Given the description of an element on the screen output the (x, y) to click on. 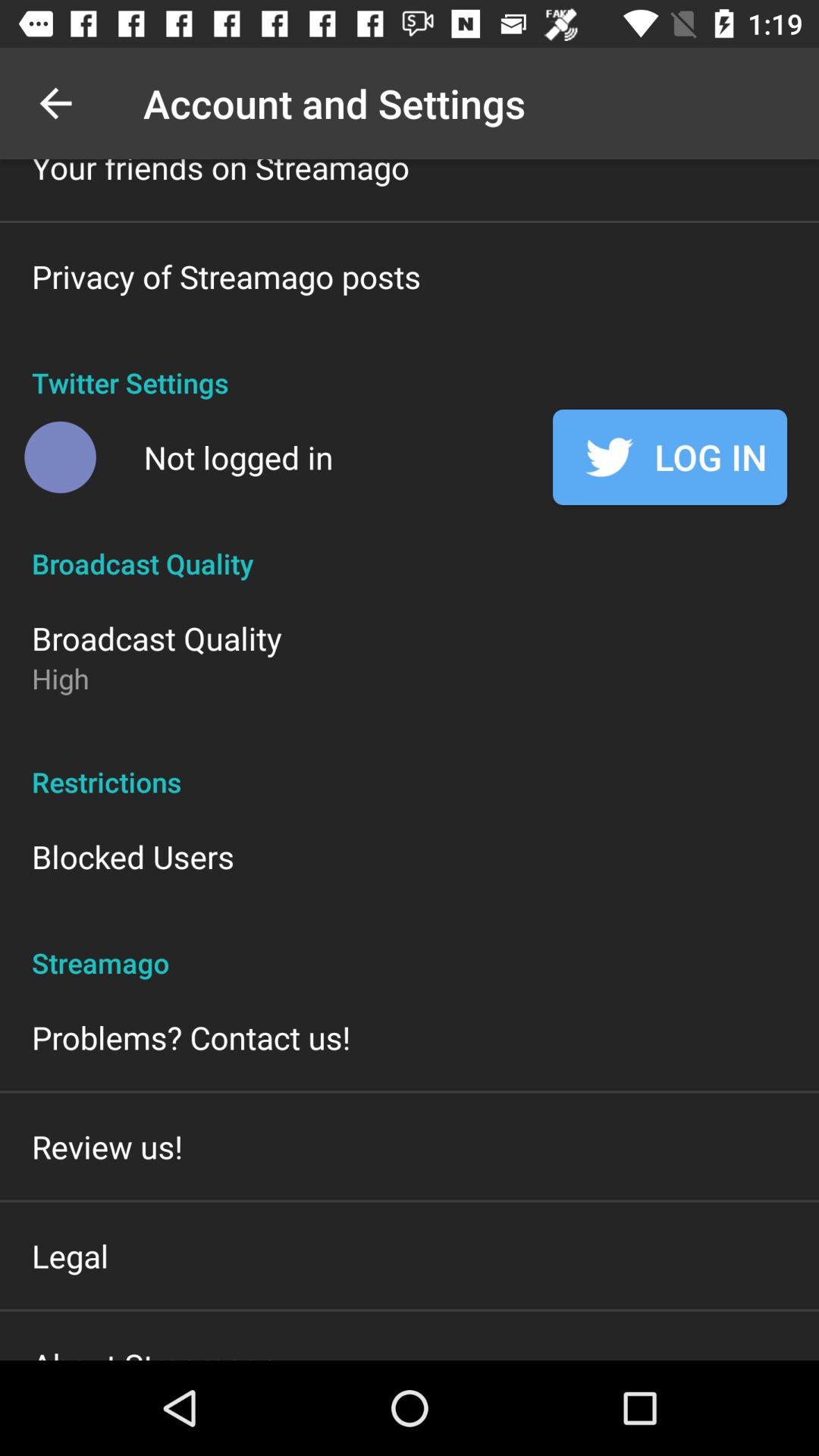
launch the your friends on icon (220, 173)
